Given the description of an element on the screen output the (x, y) to click on. 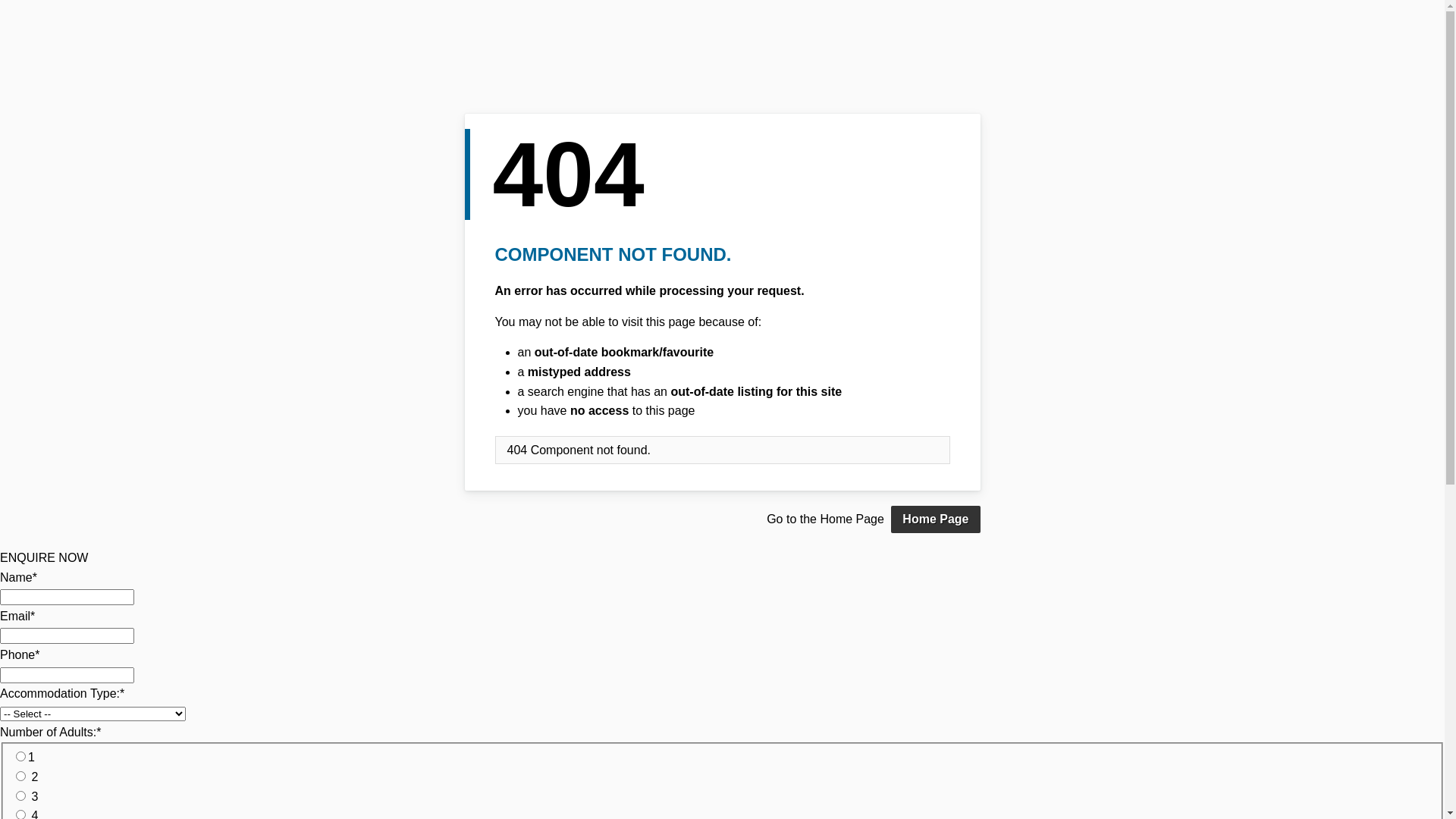
Home Page Element type: text (935, 519)
